Given the description of an element on the screen output the (x, y) to click on. 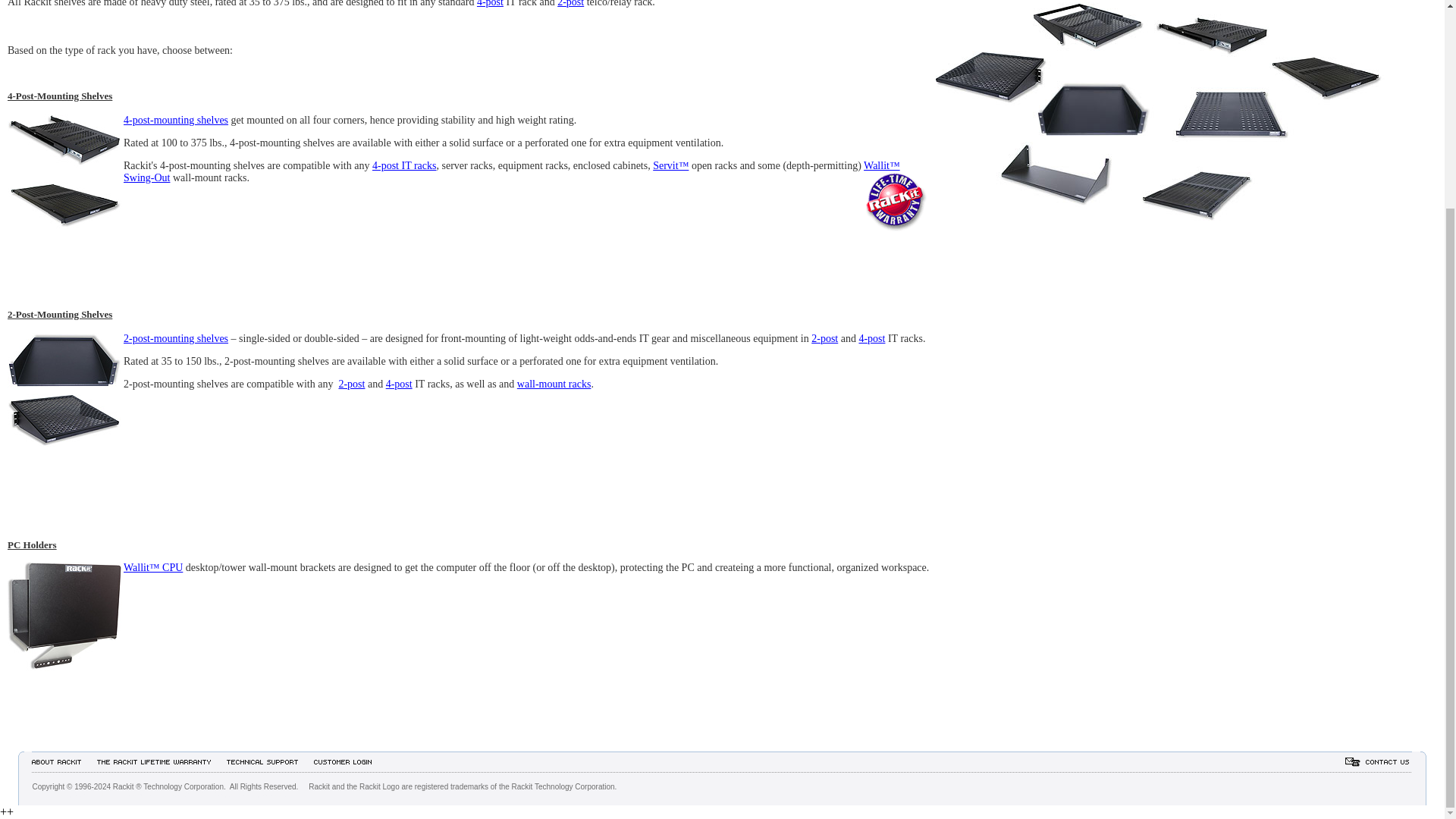
Life-time warranty (896, 200)
4-post-mounting shelves (175, 120)
4-post (872, 337)
4-post IT racks (404, 165)
2-Post-Mounting Shelves (63, 389)
Wallit CPU (63, 618)
4-post (490, 3)
2-post-mounting shelves (175, 337)
2-post (824, 337)
4-post (398, 383)
4-Post-Mounting Shelves (63, 171)
2-post (570, 3)
wall-mount racks (553, 383)
2-post (351, 383)
